Given the description of an element on the screen output the (x, y) to click on. 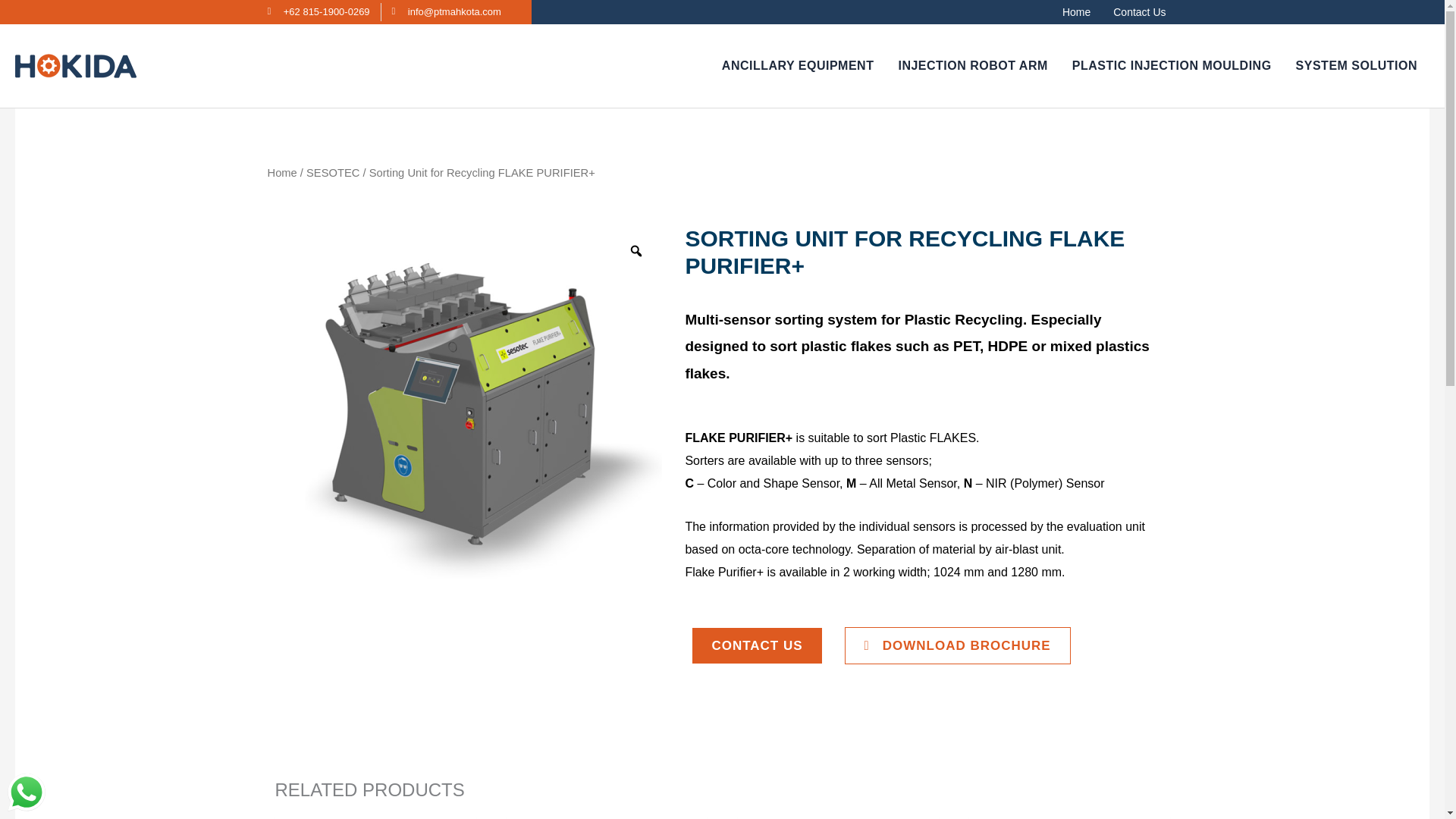
ANCILLARY EQUIPMENT (798, 65)
CONTACT US (757, 645)
DOWNLOAD BROCHURE (957, 645)
Contact Us (1139, 12)
INJECTION ROBOT ARM (972, 65)
Home (281, 173)
Zoom (635, 250)
PLASTIC INJECTION MOULDING (1171, 65)
Home (1076, 12)
SESOTEC (332, 173)
SYSTEM SOLUTION (1356, 65)
